Given the description of an element on the screen output the (x, y) to click on. 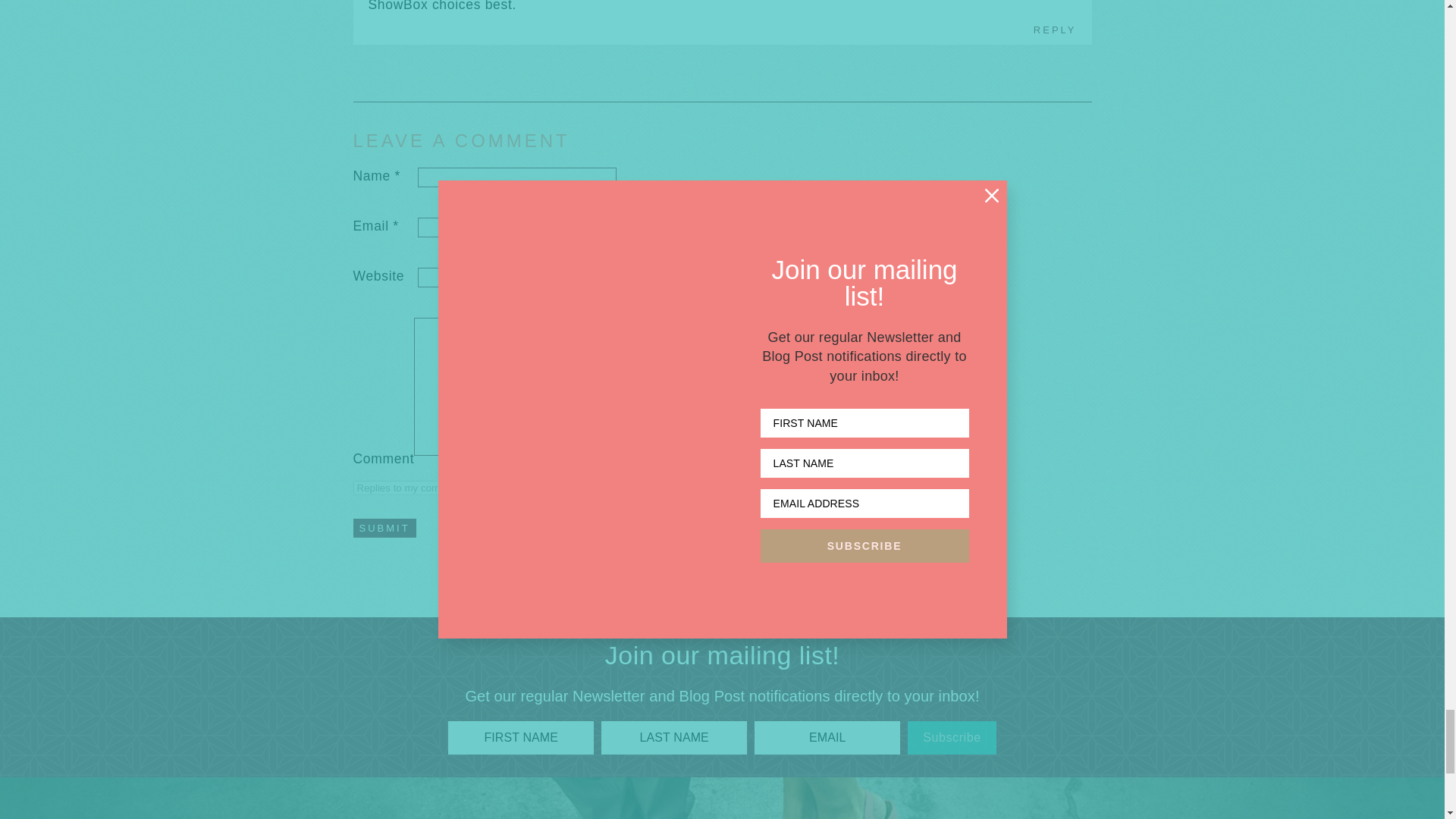
Submit (384, 527)
Required (397, 175)
Required (395, 225)
